Given the description of an element on the screen output the (x, y) to click on. 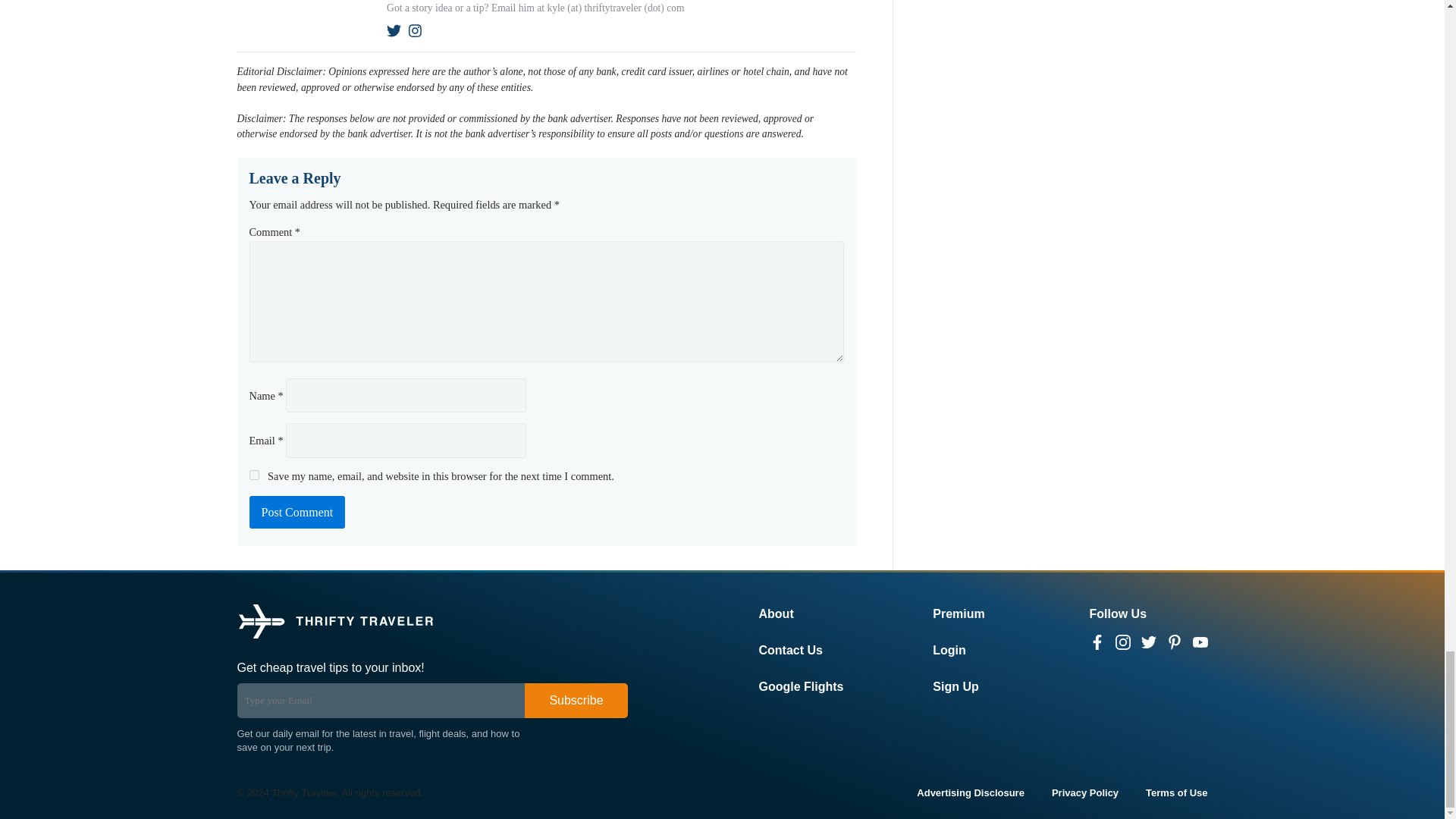
Twitter logo: link to the author's twitter page (394, 30)
Facebook Logo Facebook Logo (1096, 642)
Instagram Logo Instagram Logo (1122, 642)
Youtube Logo Youtube Logo (1199, 642)
Post Comment (296, 512)
Pinterest Logo Pinterest Logo (1173, 642)
Twitter logo: link to the author's twitter page (394, 30)
yes (253, 474)
Twitter Logo Twitter Logo (1148, 642)
